Given the description of an element on the screen output the (x, y) to click on. 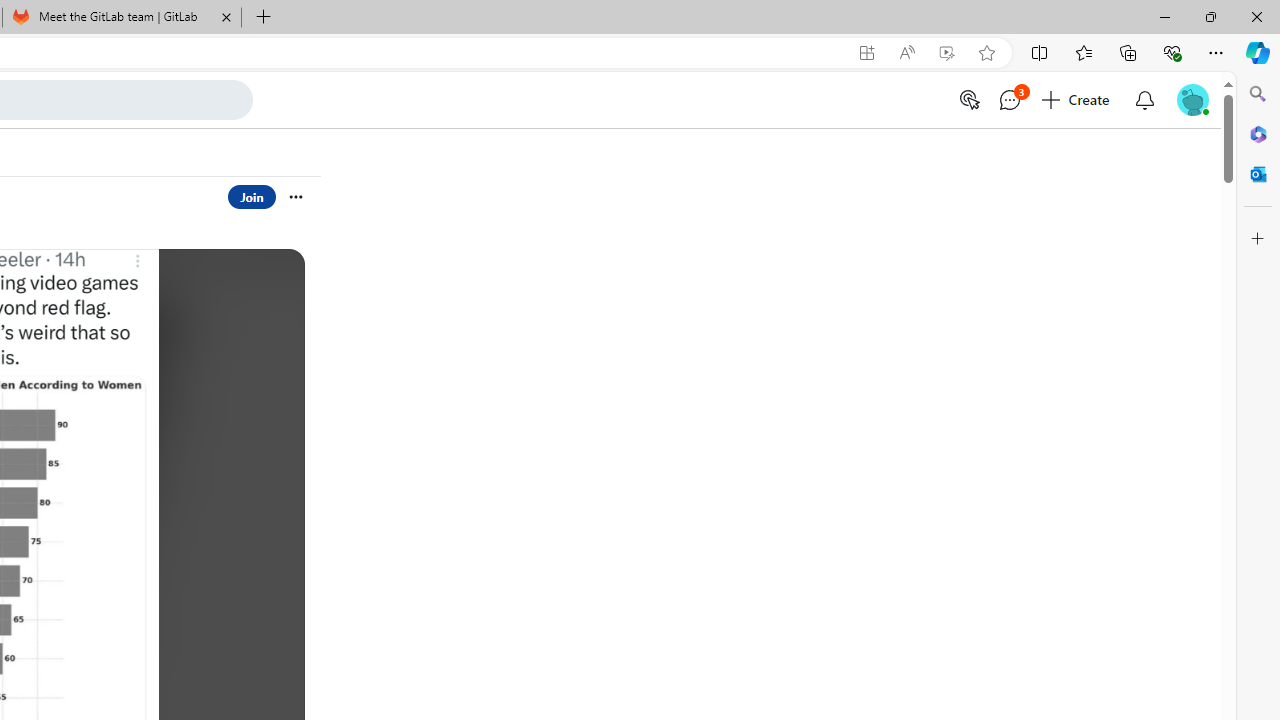
User Avatar Expand user menu (1192, 99)
Open user actions (295, 196)
User Avatar (1192, 98)
Create Create post (1077, 99)
Advertise on Reddit (968, 99)
